Given the description of an element on the screen output the (x, y) to click on. 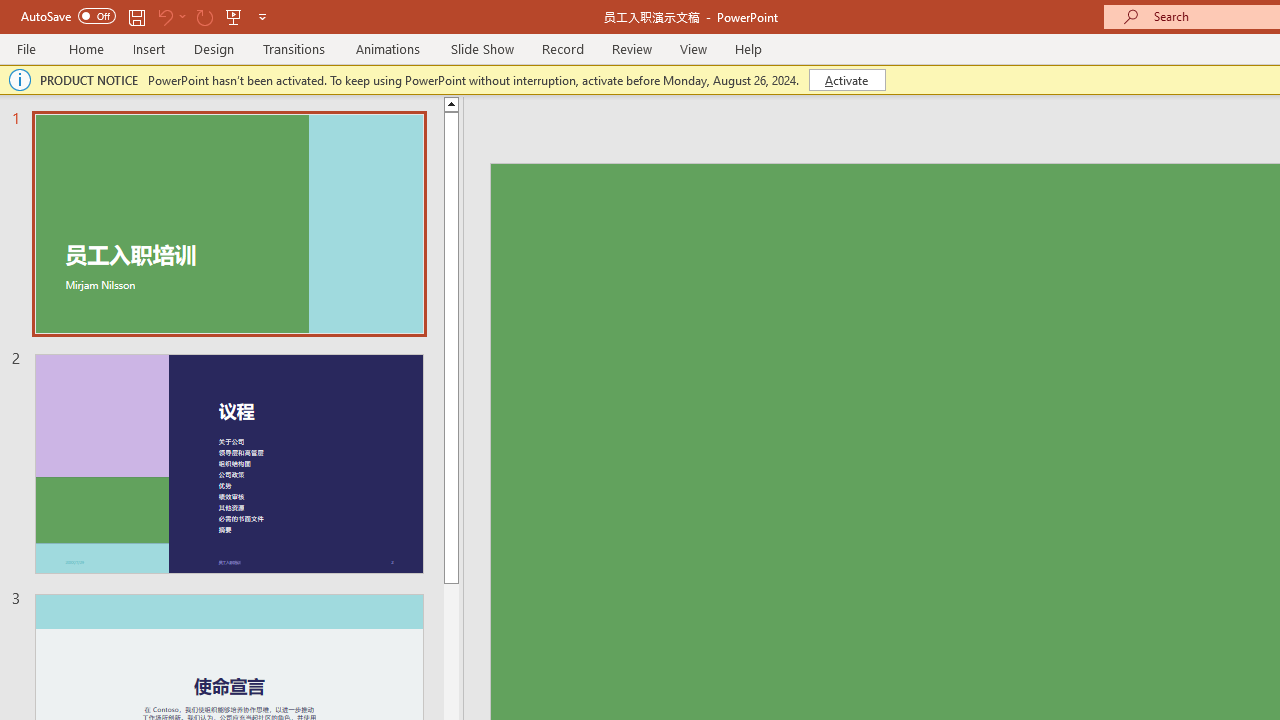
Activate (846, 79)
